Given the description of an element on the screen output the (x, y) to click on. 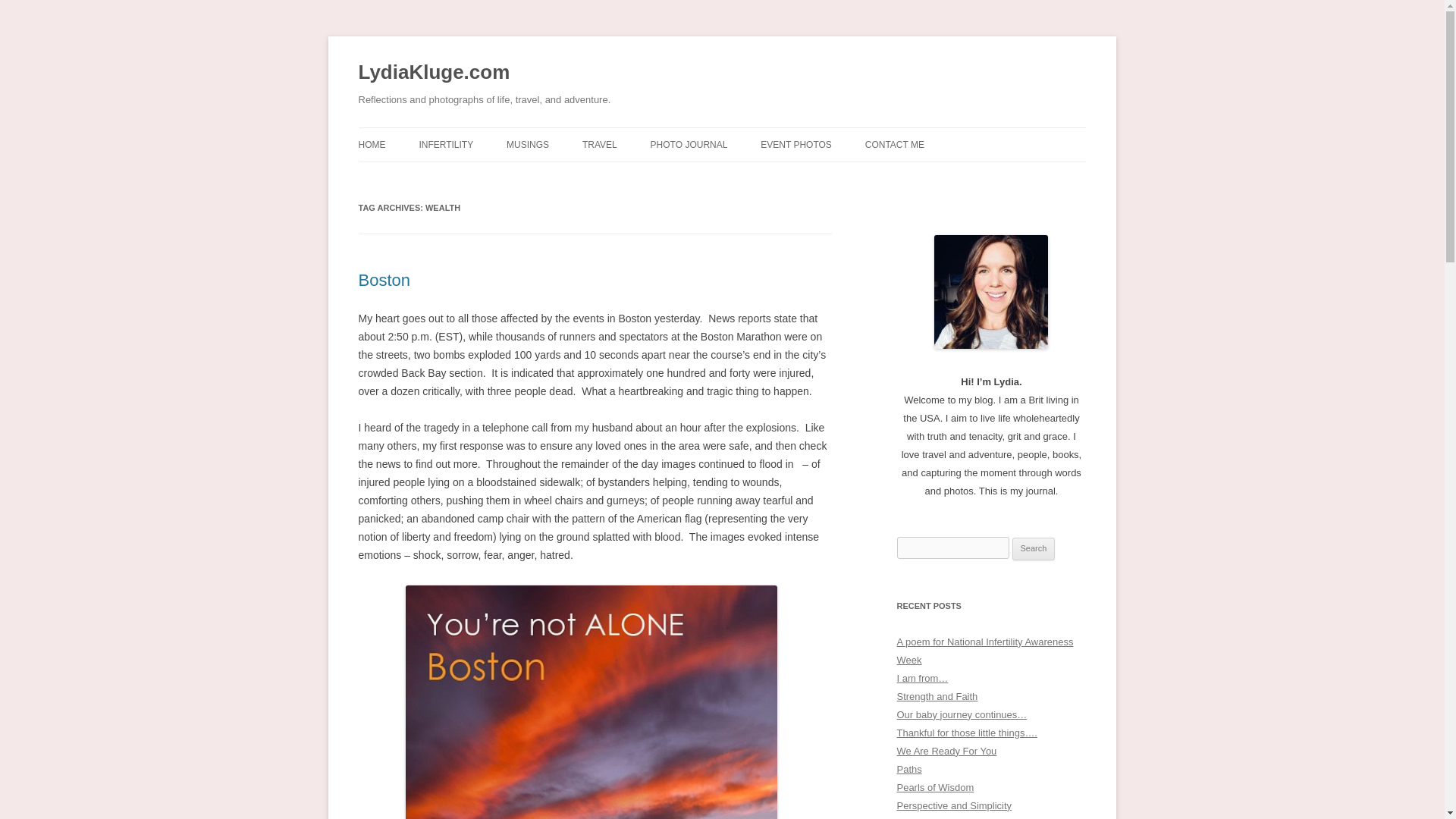
Search (1033, 548)
CONTACT ME (894, 144)
MUSINGS (527, 144)
TRAVEL (599, 144)
LydiaKluge.com (433, 72)
INFERTILITY (446, 144)
PHOTO JOURNAL (689, 144)
EVENT PHOTOS (795, 144)
Boston (384, 280)
